Given the description of an element on the screen output the (x, y) to click on. 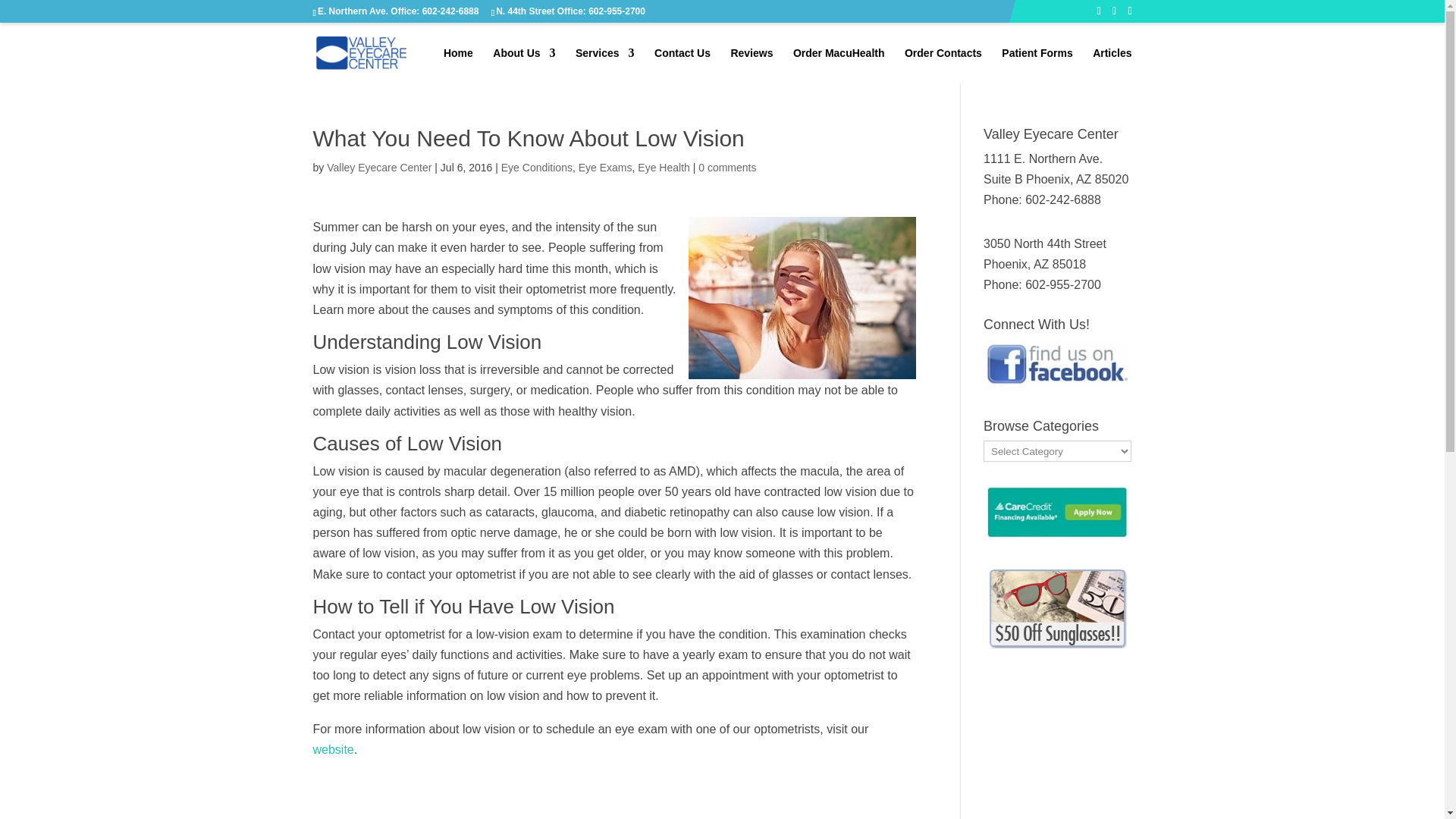
Articles (1112, 65)
E. Northern Ave. Office: 602-242-6888 (398, 10)
Order Contacts (942, 65)
About Us (523, 65)
Reviews (751, 65)
Posts by Valley Eyecare Center (378, 167)
Valley Eyecare Center (378, 167)
Eye Exams (604, 167)
Patient Forms (1036, 65)
Eye Conditions (536, 167)
0 comments (726, 167)
Order MacuHealth (839, 65)
N. 44th Street Office: 602-955-2700 (570, 10)
Contact Us (681, 65)
Eye Health (662, 167)
